Given the description of an element on the screen output the (x, y) to click on. 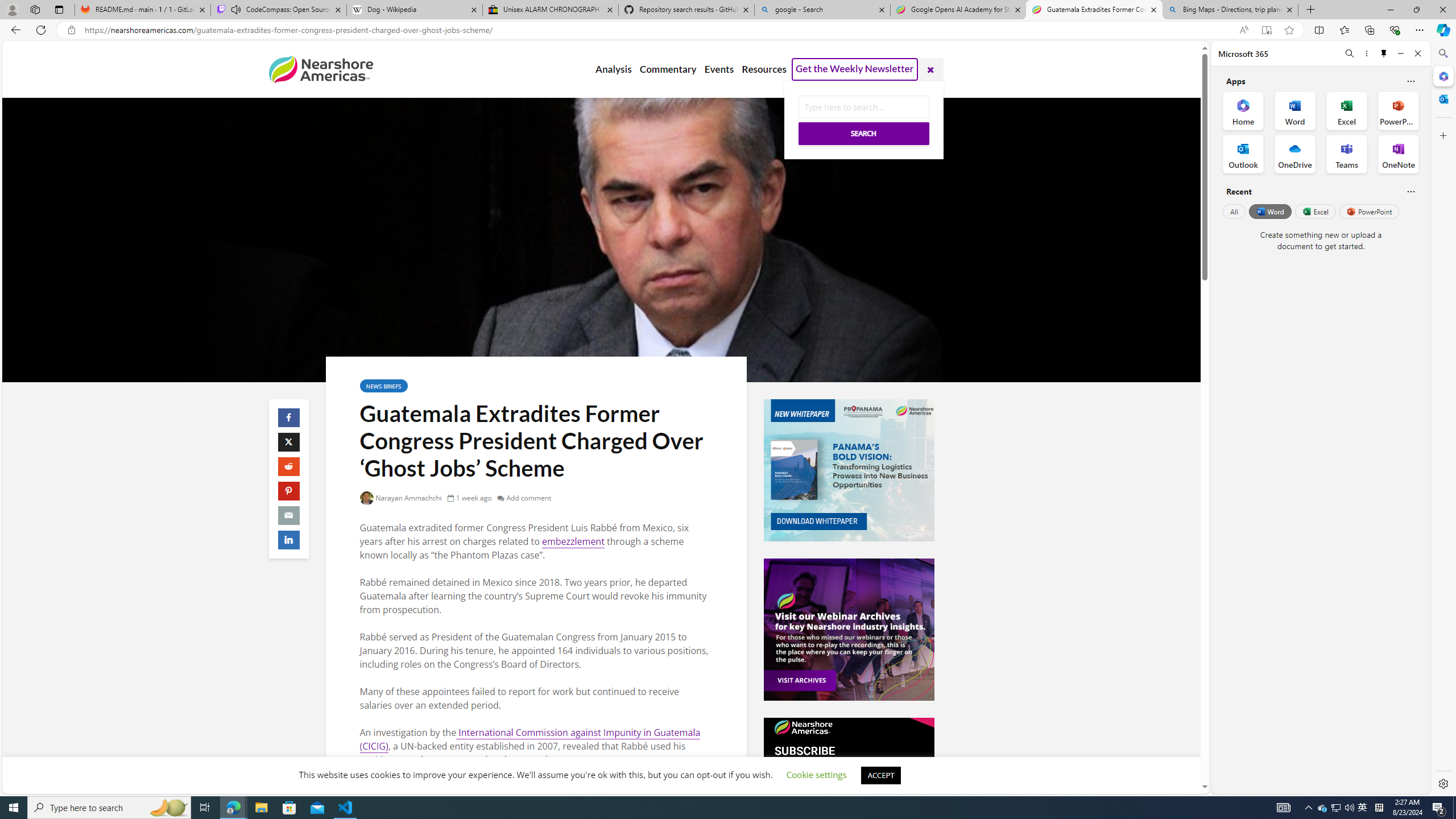
Dog - Wikipedia (414, 9)
Commentary (667, 69)
propanama-whitepaper_1_sidead.png (848, 470)
Commentary (667, 69)
Teams Office App (1346, 154)
Resources (763, 69)
Get the Weekly Newsletter (854, 69)
OneNote Office App (1398, 154)
Outlook Office App (1243, 154)
